Given the description of an element on the screen output the (x, y) to click on. 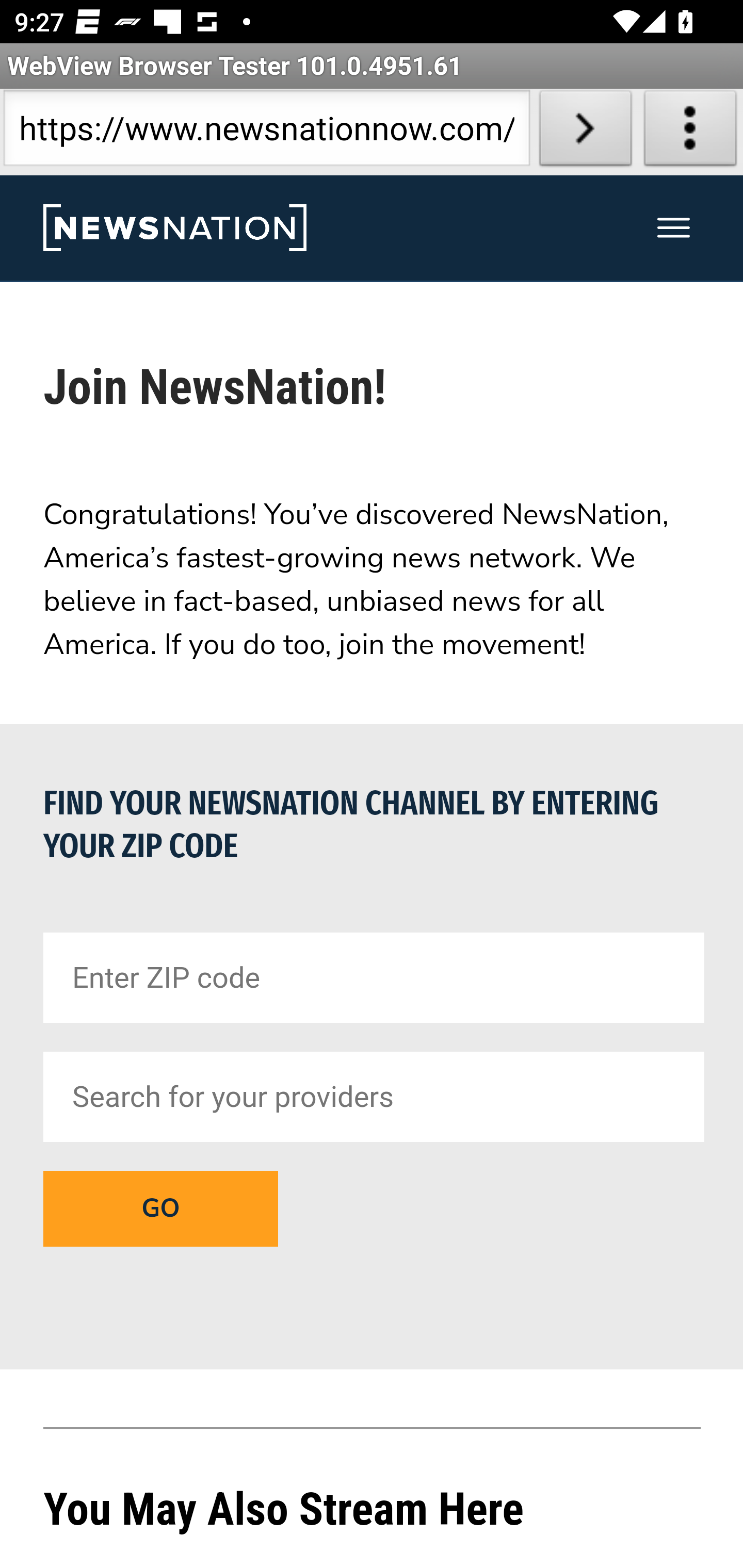
https://www.newsnationnow.com/channel-finder/ (266, 132)
Load URL (585, 132)
About WebView (690, 132)
www.newsnationnow (174, 227)
Toggle Menu (674, 227)
Go (160, 1208)
